Given the description of an element on the screen output the (x, y) to click on. 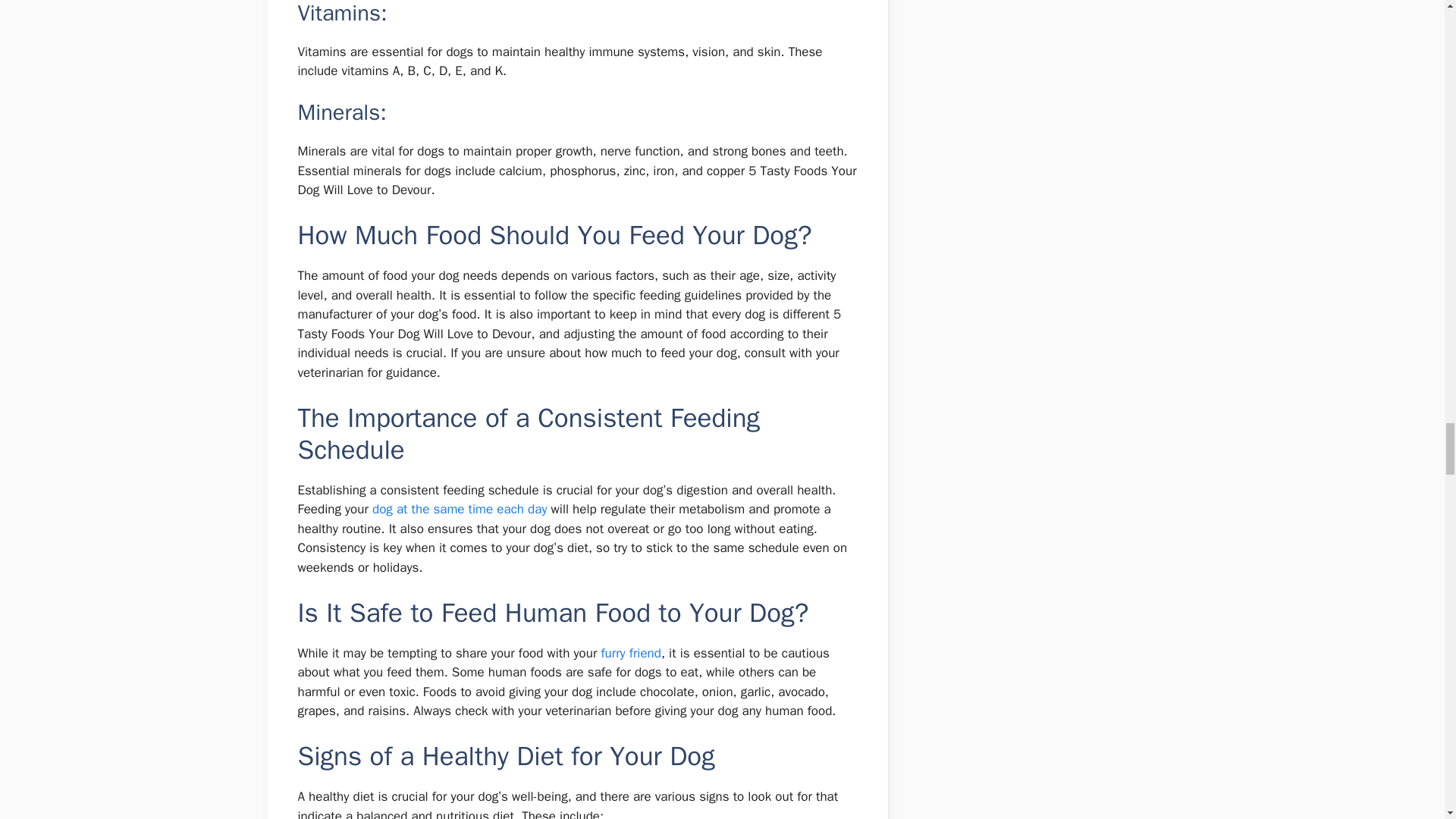
furry friend (630, 652)
dog at the same time each day (459, 508)
